Given the description of an element on the screen output the (x, y) to click on. 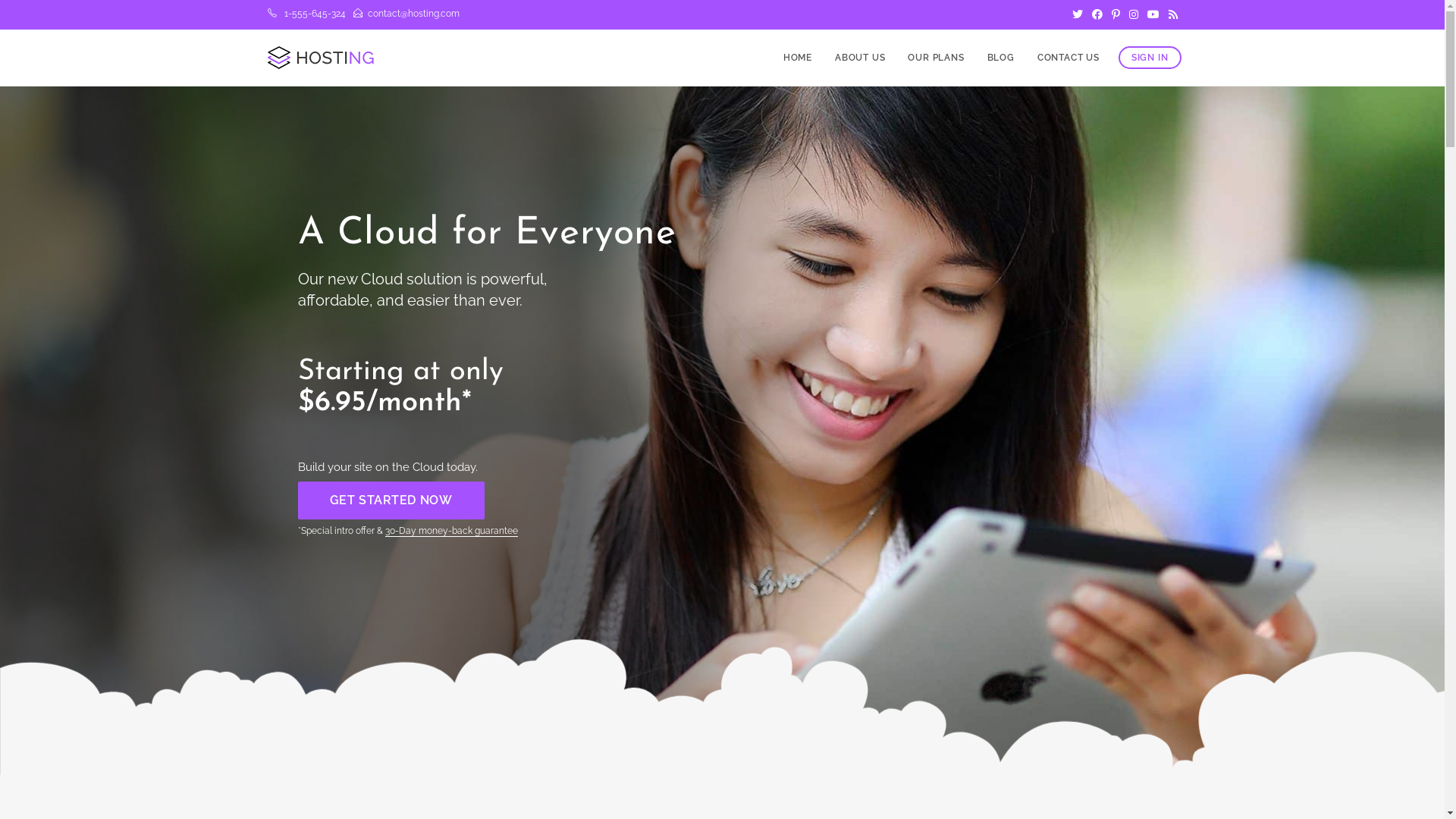
SIGN IN Element type: text (1149, 57)
CONTACT US Element type: text (1068, 57)
GET STARTED NOW Element type: text (390, 500)
OUR PLANS Element type: text (935, 57)
BLOG Element type: text (1000, 57)
HOME Element type: text (797, 57)
ABOUT US Element type: text (859, 57)
